Given the description of an element on the screen output the (x, y) to click on. 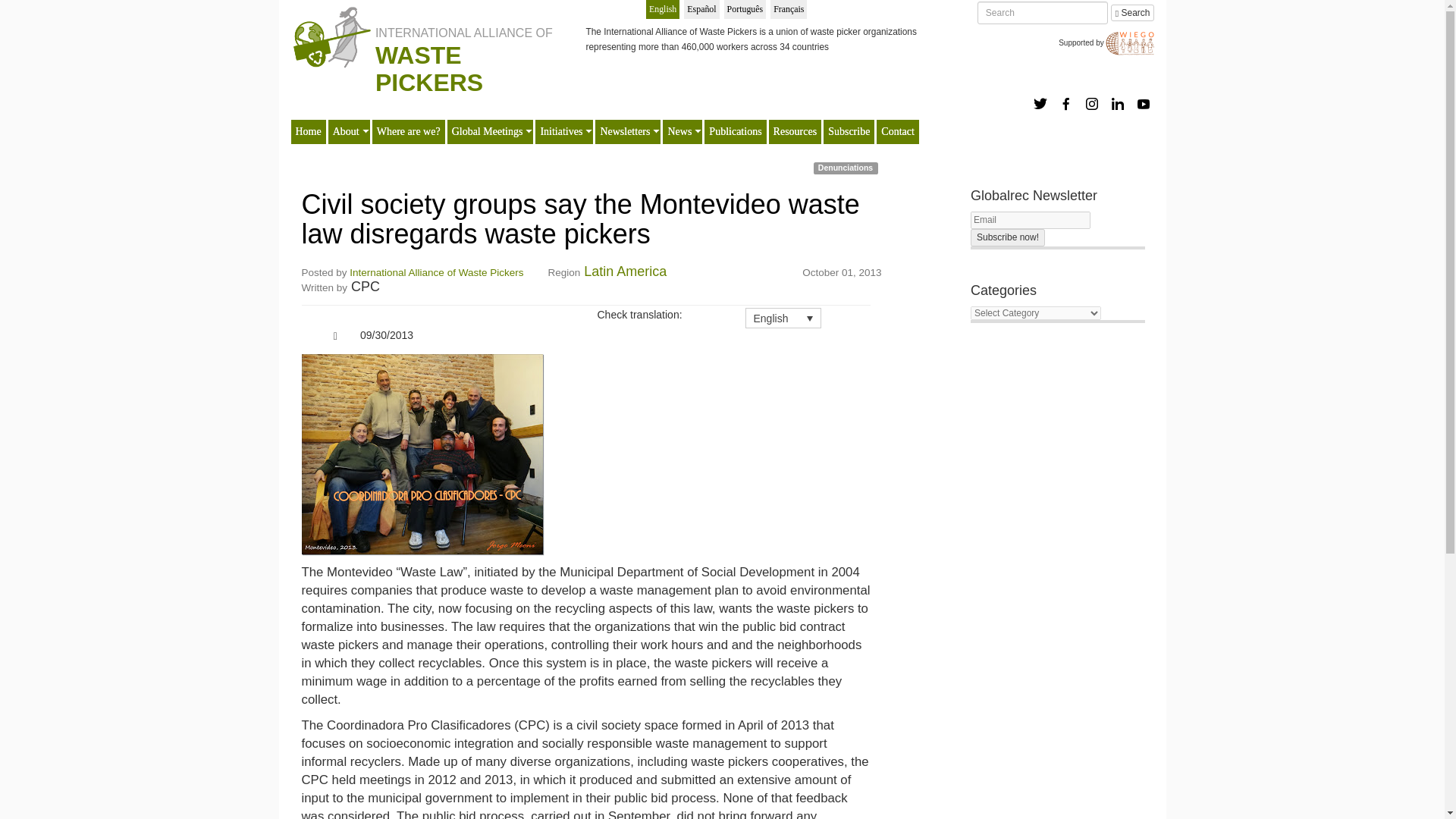
Home (330, 34)
English (662, 9)
WIEGO (1129, 42)
News (679, 131)
Subscribe now! (1008, 237)
Instagram International Alliance of Waste Pickers (1091, 102)
Search (1132, 12)
Newsletters (624, 131)
Home (307, 131)
Facebook International Alliance of Waste Pickers (1066, 102)
